Given the description of an element on the screen output the (x, y) to click on. 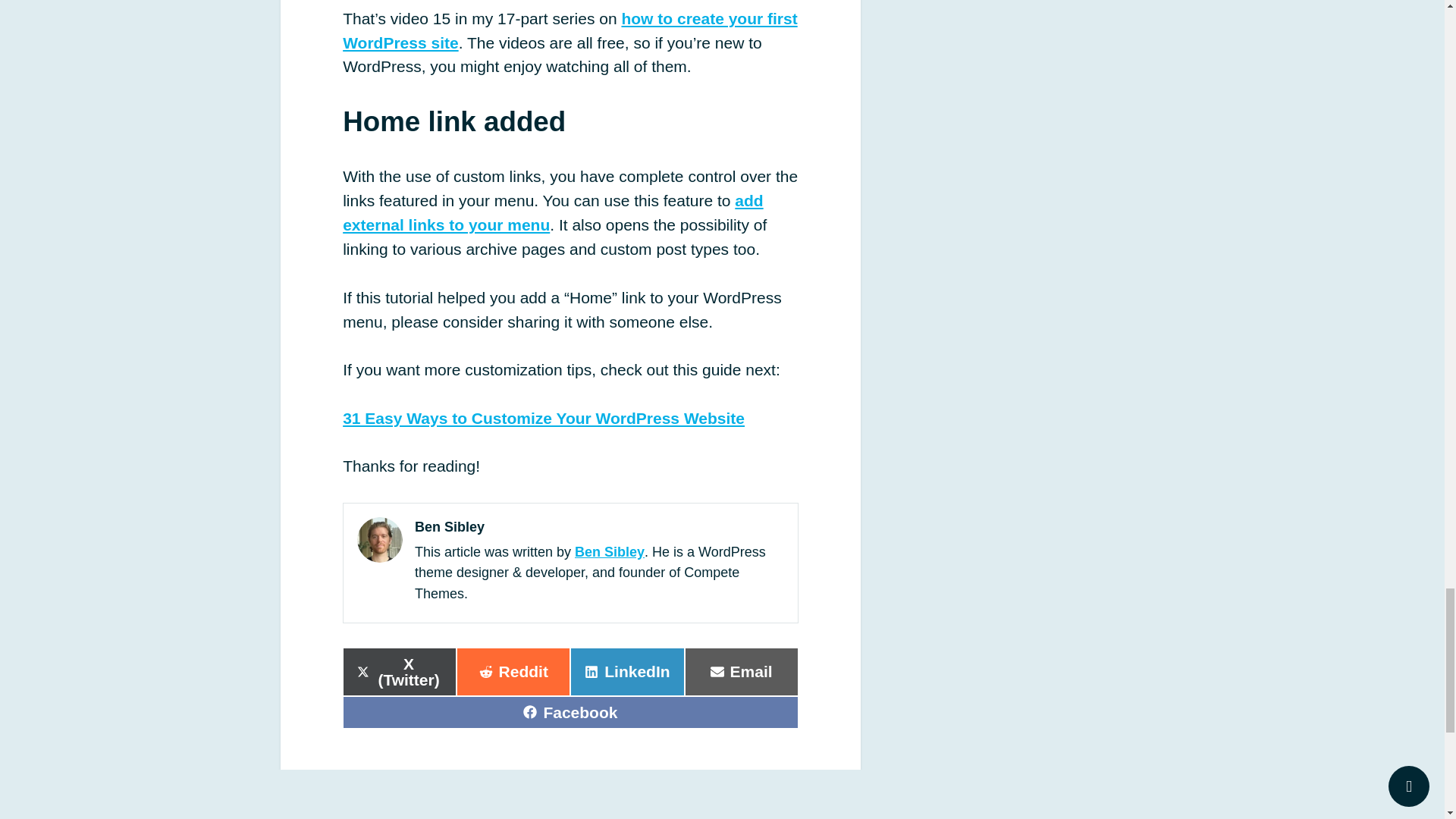
how to create your first WordPress site (569, 30)
Ben Sibley (610, 551)
add external links to your menu (552, 212)
31 Easy Ways to Customize Your WordPress Website (543, 417)
